Given the description of an element on the screen output the (x, y) to click on. 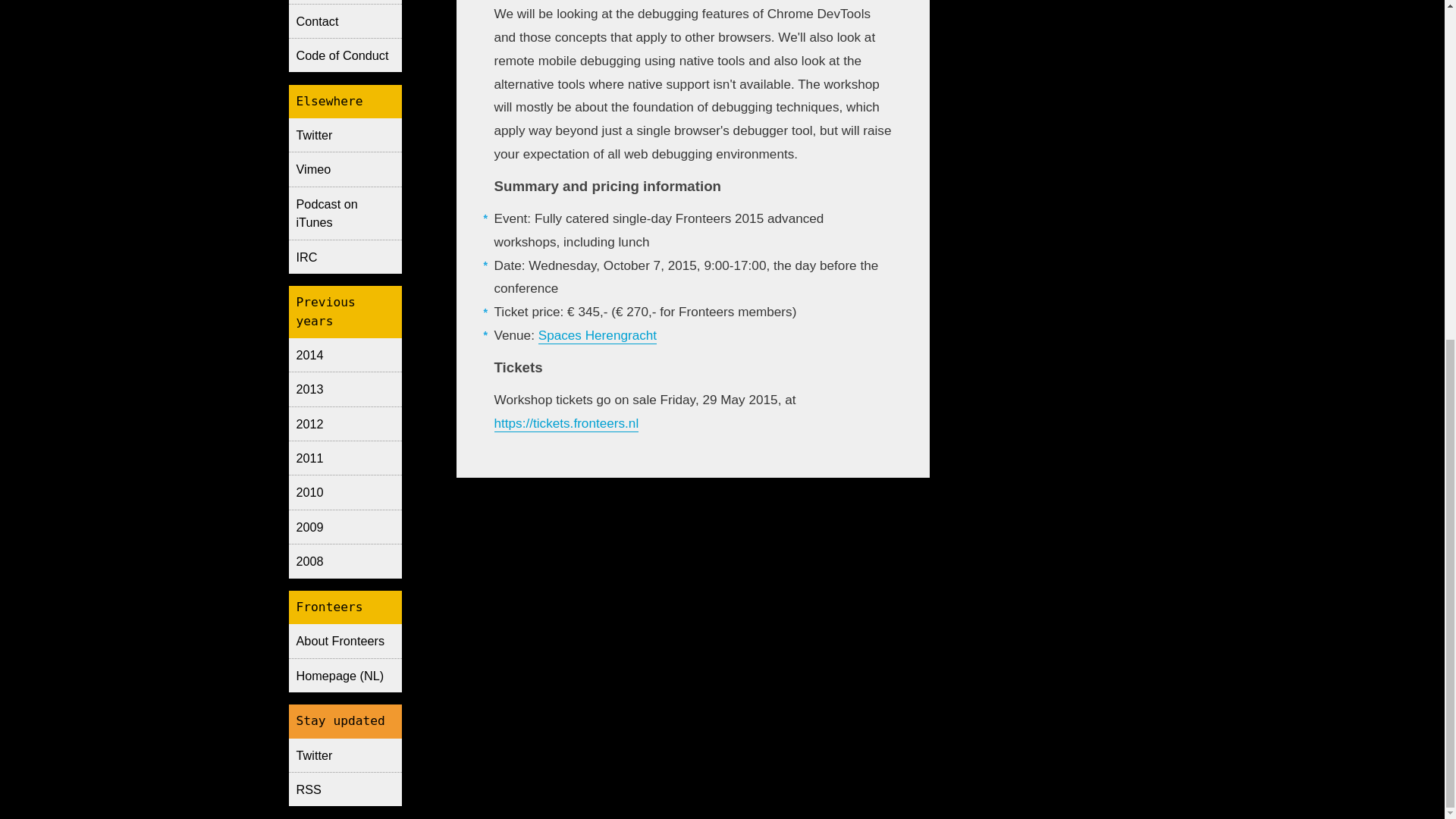
Podcast on iTunes (344, 212)
2009 (344, 526)
2013 (344, 388)
Vimeo (344, 168)
Twitter (344, 134)
Spaces Herengracht (597, 334)
2014 (344, 354)
RSS (344, 788)
2008 (344, 560)
2012 (344, 423)
Twitter (344, 754)
Team (344, 1)
Fronteers 2015 team (344, 1)
About Fronteers (344, 640)
IRC (344, 255)
